Given the description of an element on the screen output the (x, y) to click on. 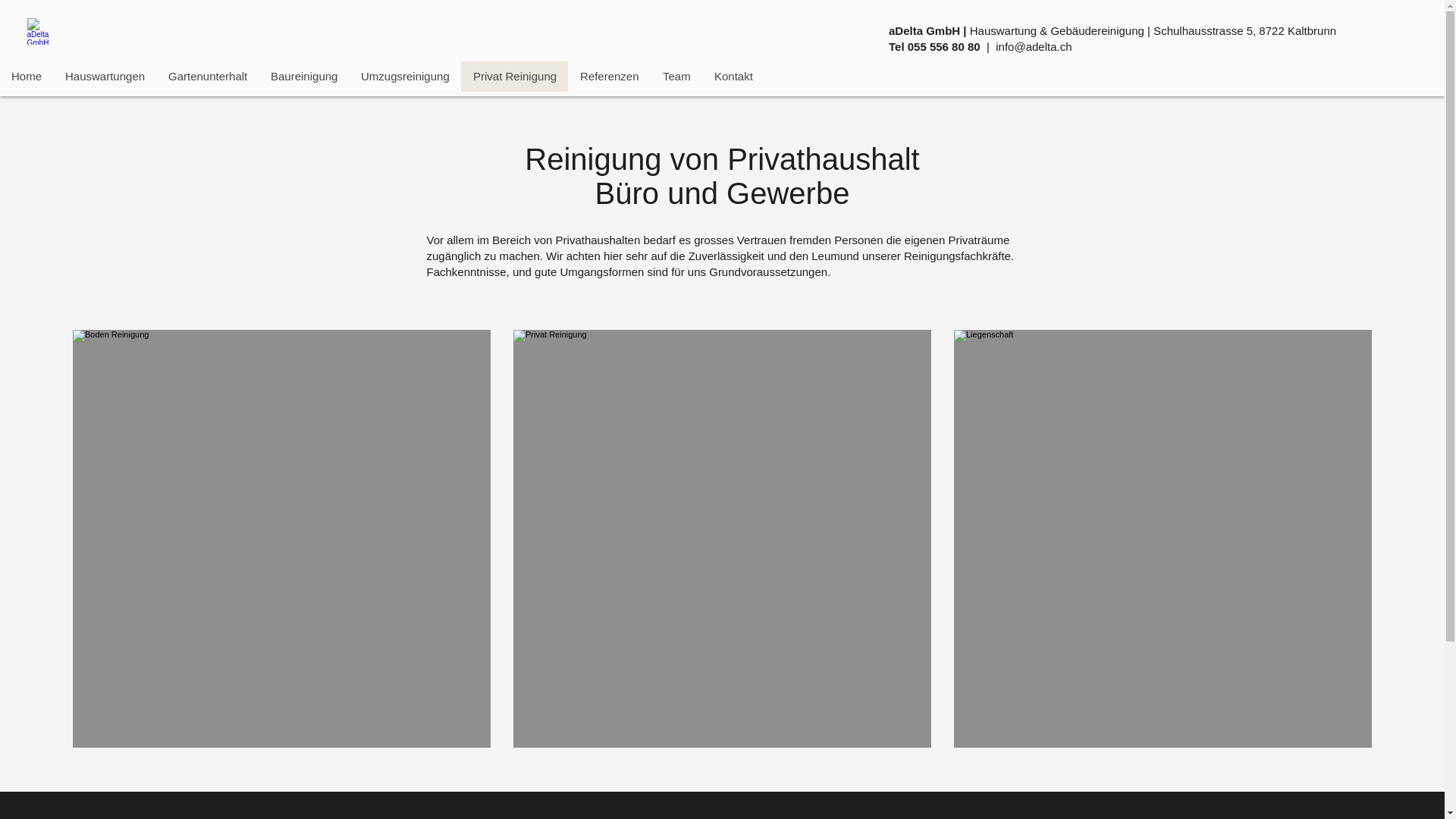
Hauswartungen Element type: text (104, 76)
Baureinigung Element type: text (303, 76)
Home Element type: text (26, 76)
Referenzen Element type: text (608, 76)
aDelta GmbH Element type: hover (41, 31)
Kontakt Element type: text (733, 76)
Team Element type: text (676, 76)
info@adelta.ch Element type: text (1033, 46)
Umzugsreinigung Element type: text (404, 76)
Privat Reinigung Element type: text (514, 76)
Gartenunterhalt Element type: text (207, 76)
